Given the description of an element on the screen output the (x, y) to click on. 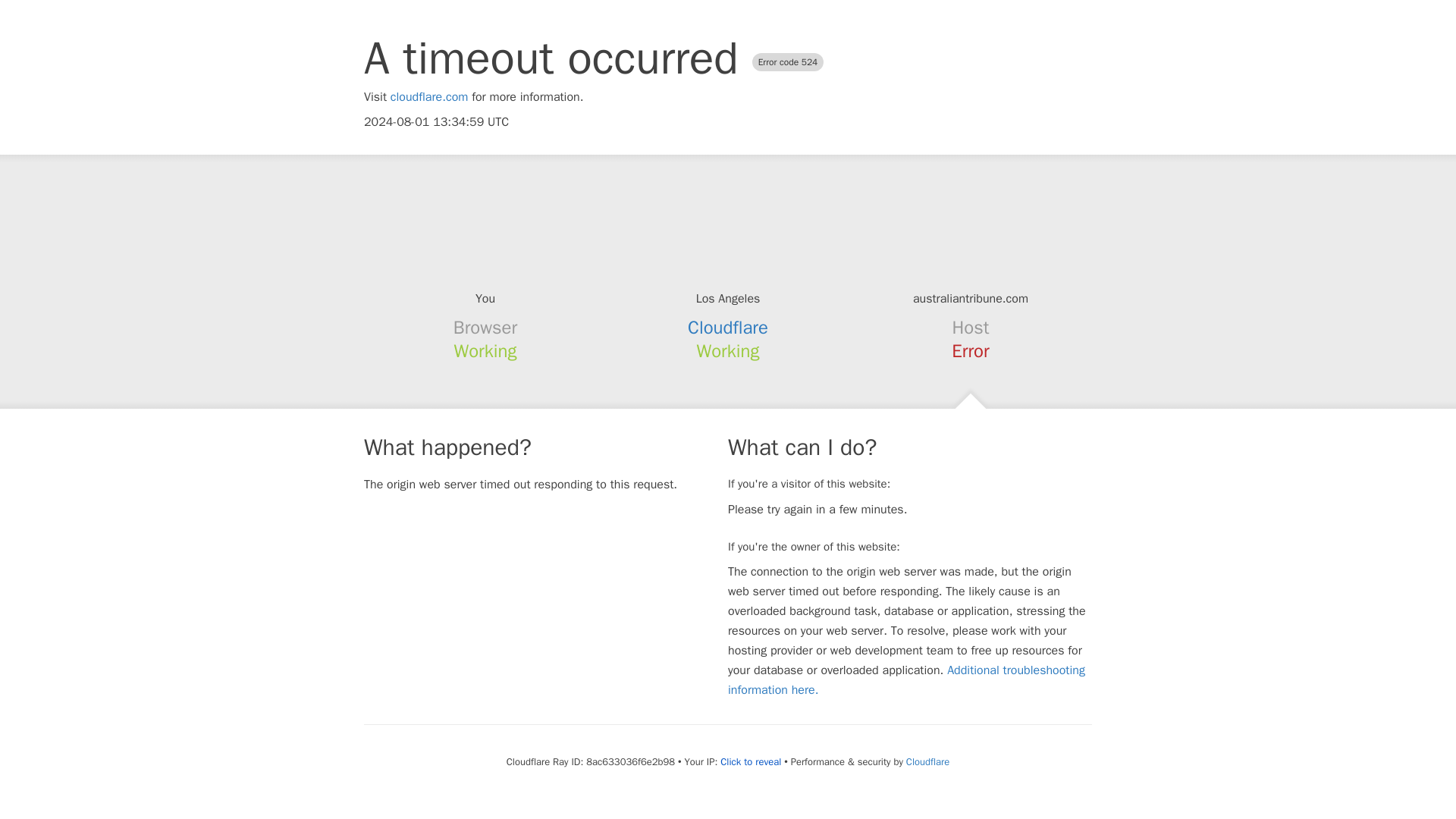
Cloudflare (727, 327)
cloudflare.com (429, 96)
Cloudflare (927, 761)
Click to reveal (750, 762)
Additional troubleshooting information here. (906, 679)
